Given the description of an element on the screen output the (x, y) to click on. 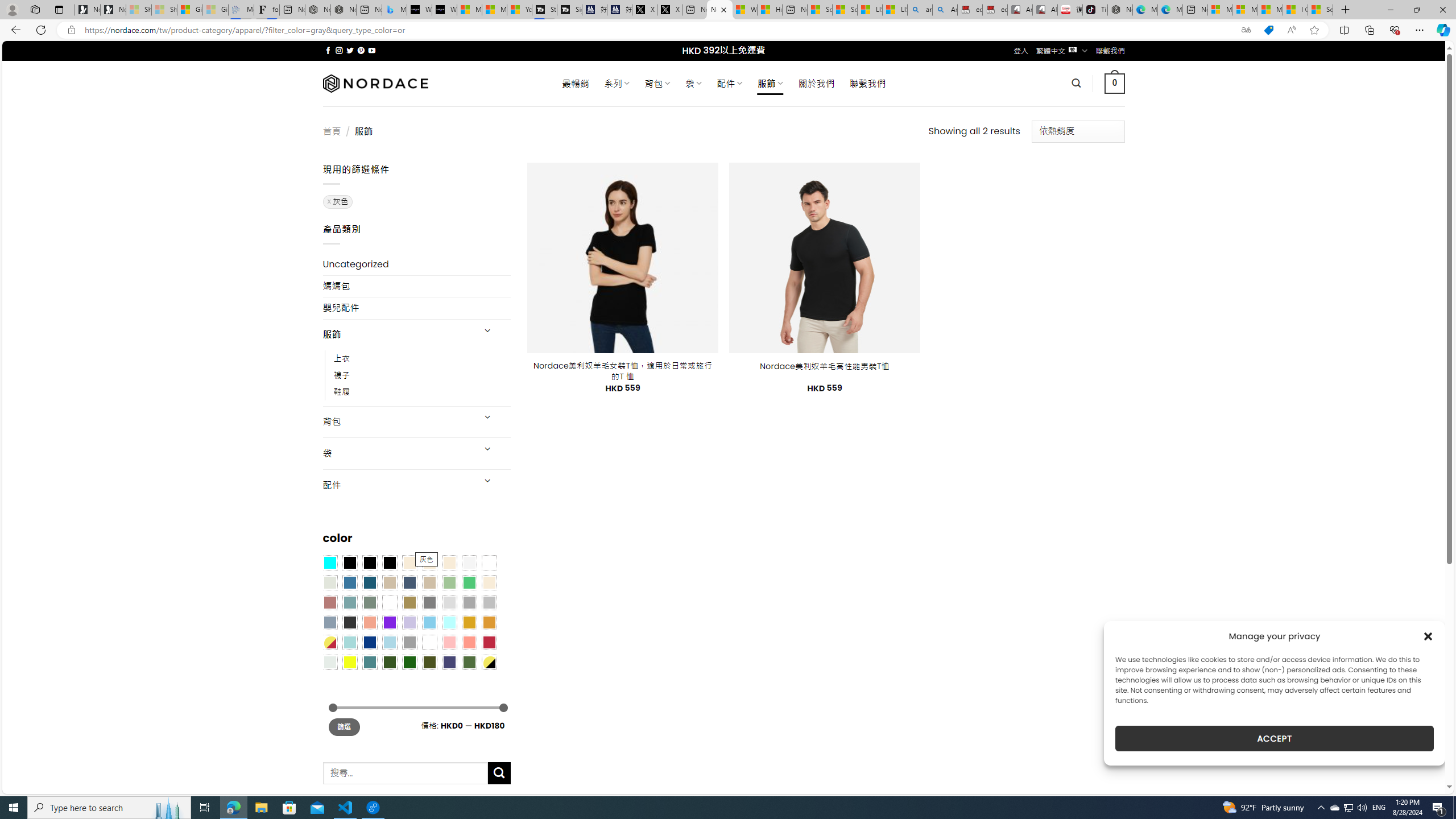
Follow on YouTube (371, 50)
Uncategorized (416, 264)
